Given the description of an element on the screen output the (x, y) to click on. 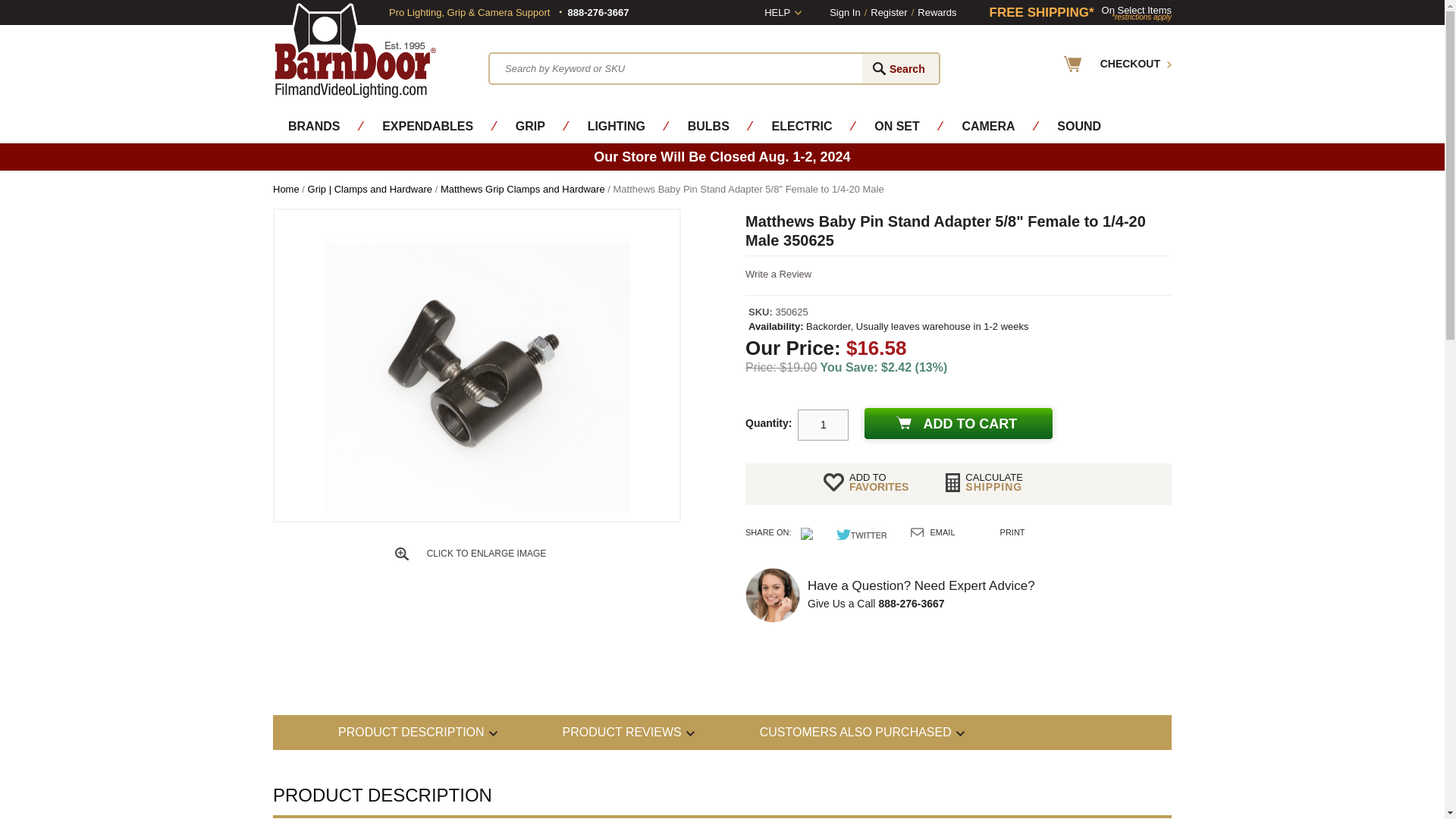
CHECKOUT (1118, 64)
BRANDS (314, 125)
Sign In (844, 12)
Register (888, 12)
Search (900, 68)
1 (822, 424)
HELP (783, 12)
Search (900, 68)
Rewards (936, 12)
